Given the description of an element on the screen output the (x, y) to click on. 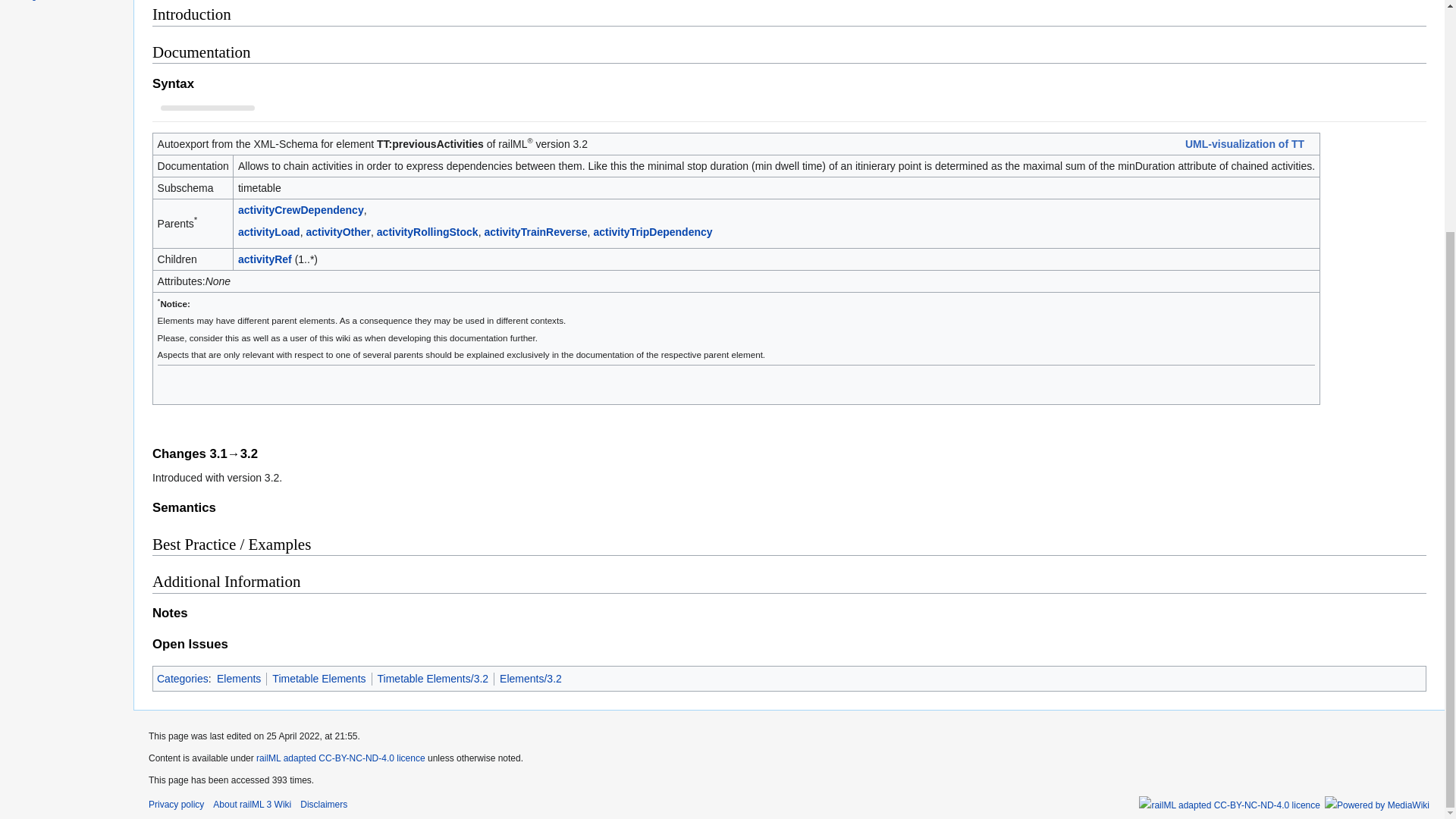
activityTrainReverse (534, 232)
TT:activityTrainReverse (534, 232)
TT:activityOther (338, 232)
Timetable Elements (318, 678)
activityCrewDependency (301, 209)
Special:Categories (182, 678)
Category:Elements (238, 678)
activityRef (265, 259)
TT:activityCrewDependency (301, 209)
TT:previousActivities (430, 143)
